Given the description of an element on the screen output the (x, y) to click on. 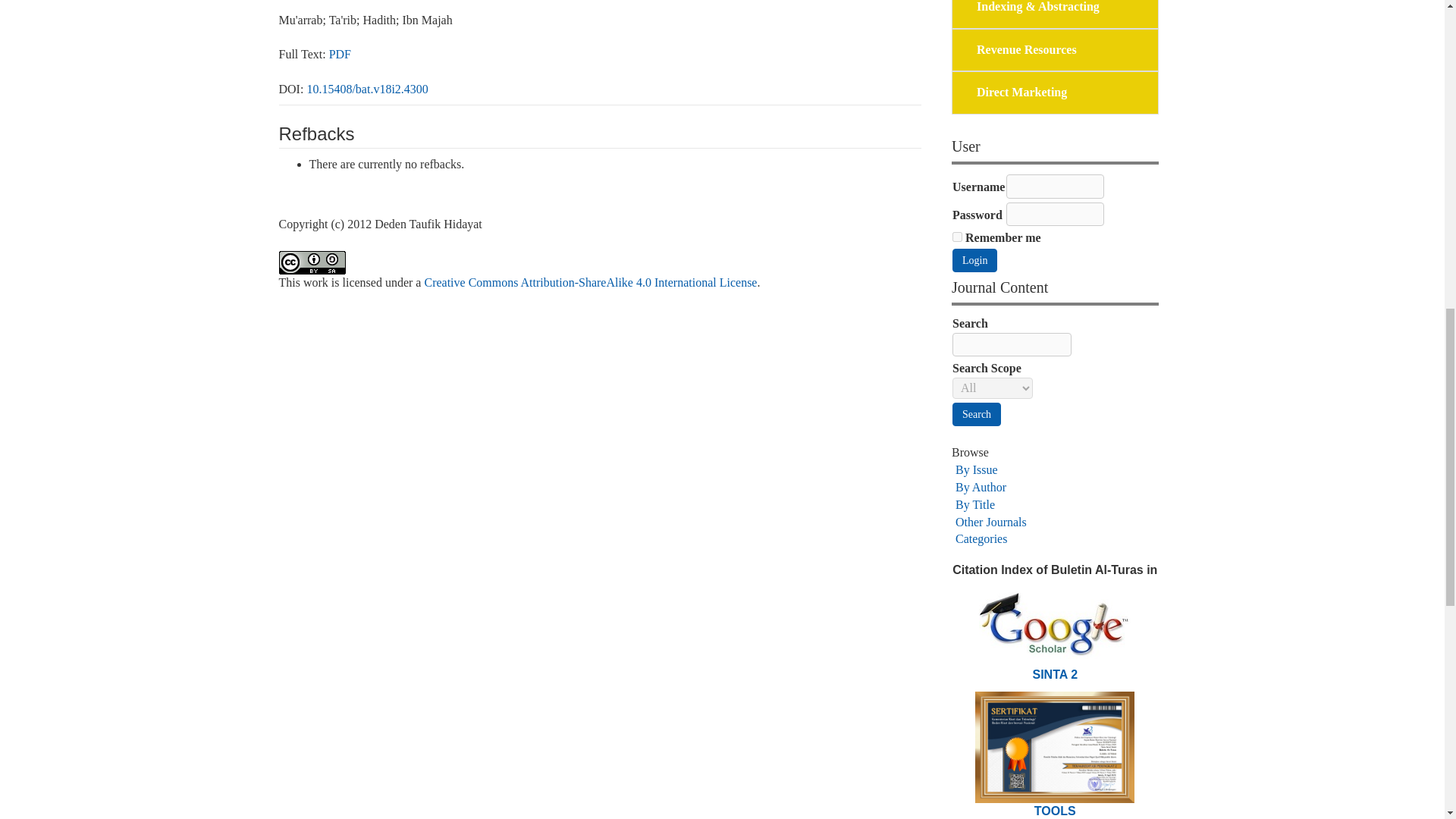
Revenue Resources (1026, 49)
Buletin Al-Turas (1054, 745)
Direct Marketing (1021, 92)
1 (957, 236)
Article Template (1054, 810)
PDF (339, 53)
Direct Marketing (1021, 92)
Search (976, 413)
Login (974, 259)
Revenue Resources (1026, 49)
